Given the description of an element on the screen output the (x, y) to click on. 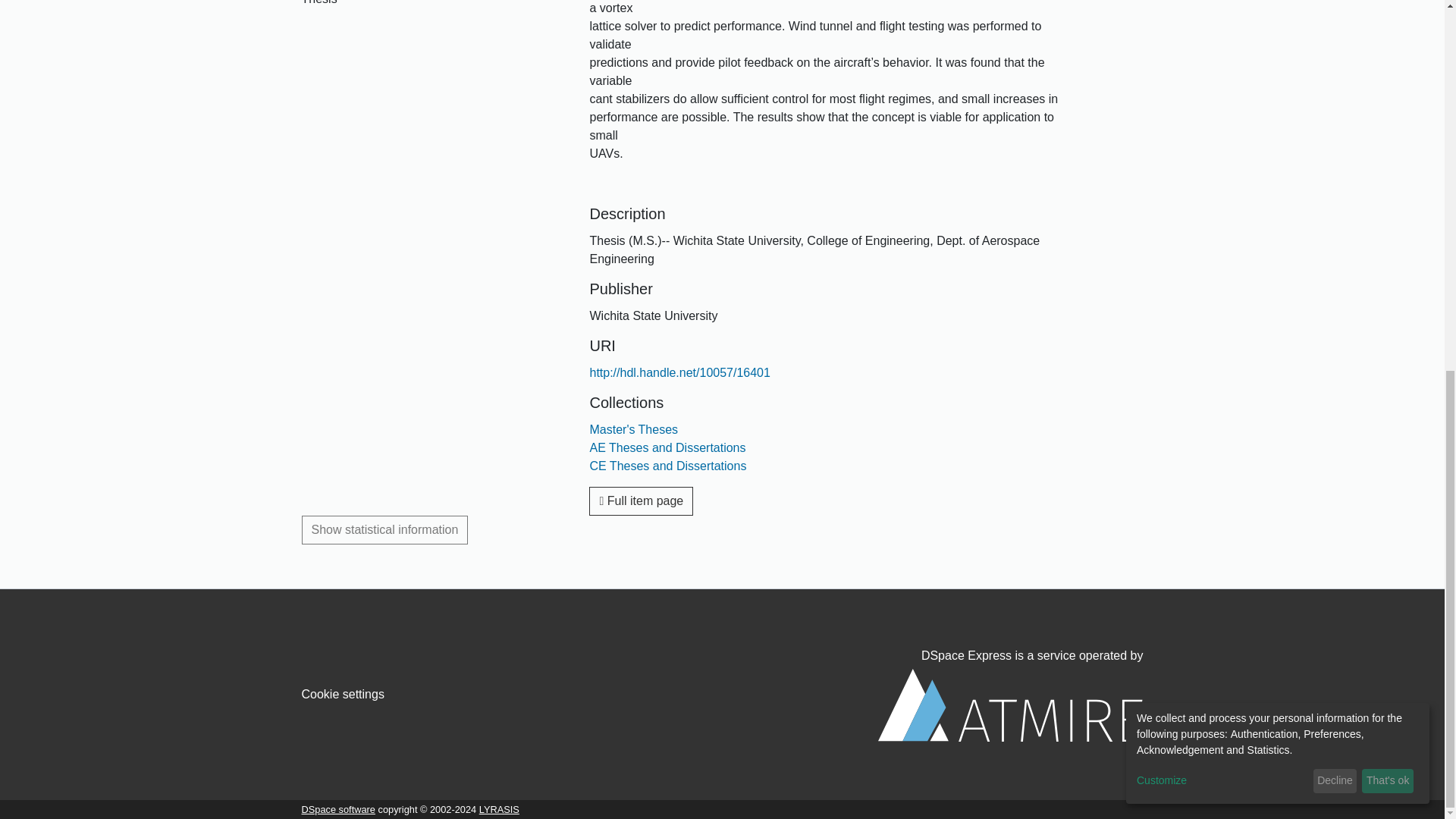
CE Theses and Dissertations (667, 465)
That's ok (1387, 106)
LYRASIS (499, 808)
Show statistical information (384, 529)
Master's Theses (633, 429)
Cookie settings (342, 694)
Decline (1334, 106)
Full item page (641, 500)
AE Theses and Dissertations (667, 447)
Customize (1222, 106)
